Given the description of an element on the screen output the (x, y) to click on. 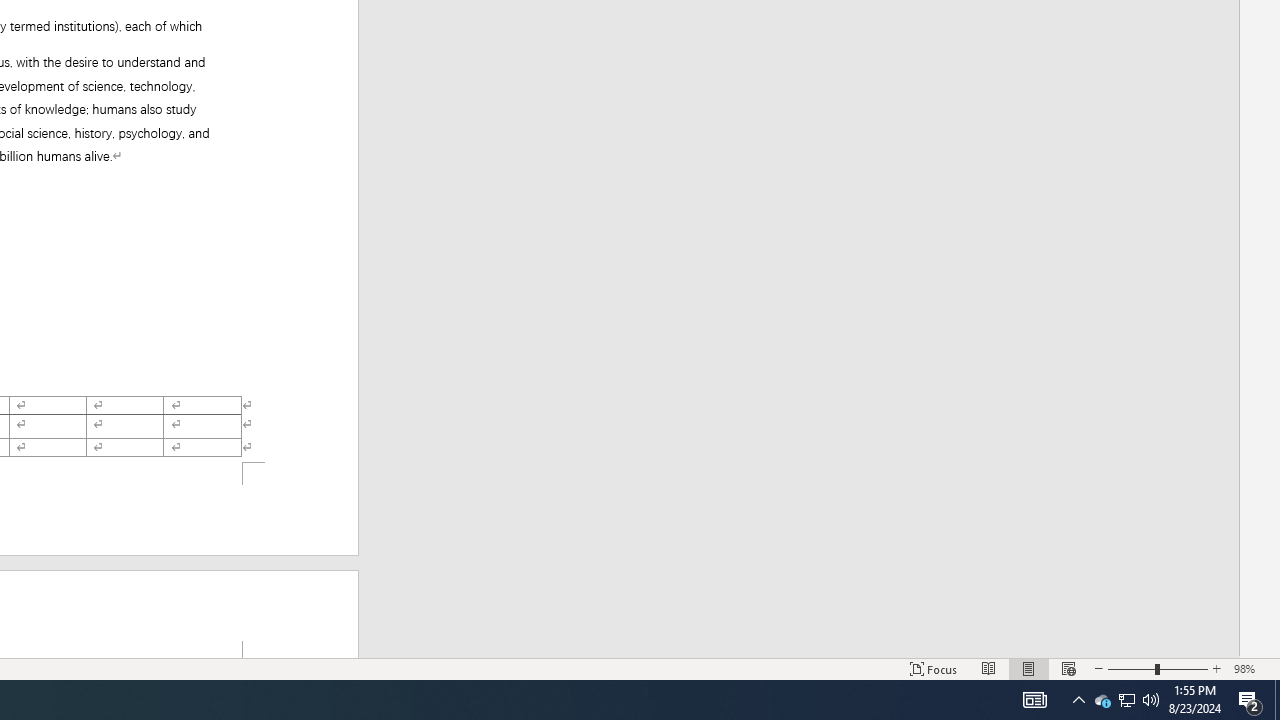
AutomationID: 4105 (1034, 699)
